Given the description of an element on the screen output the (x, y) to click on. 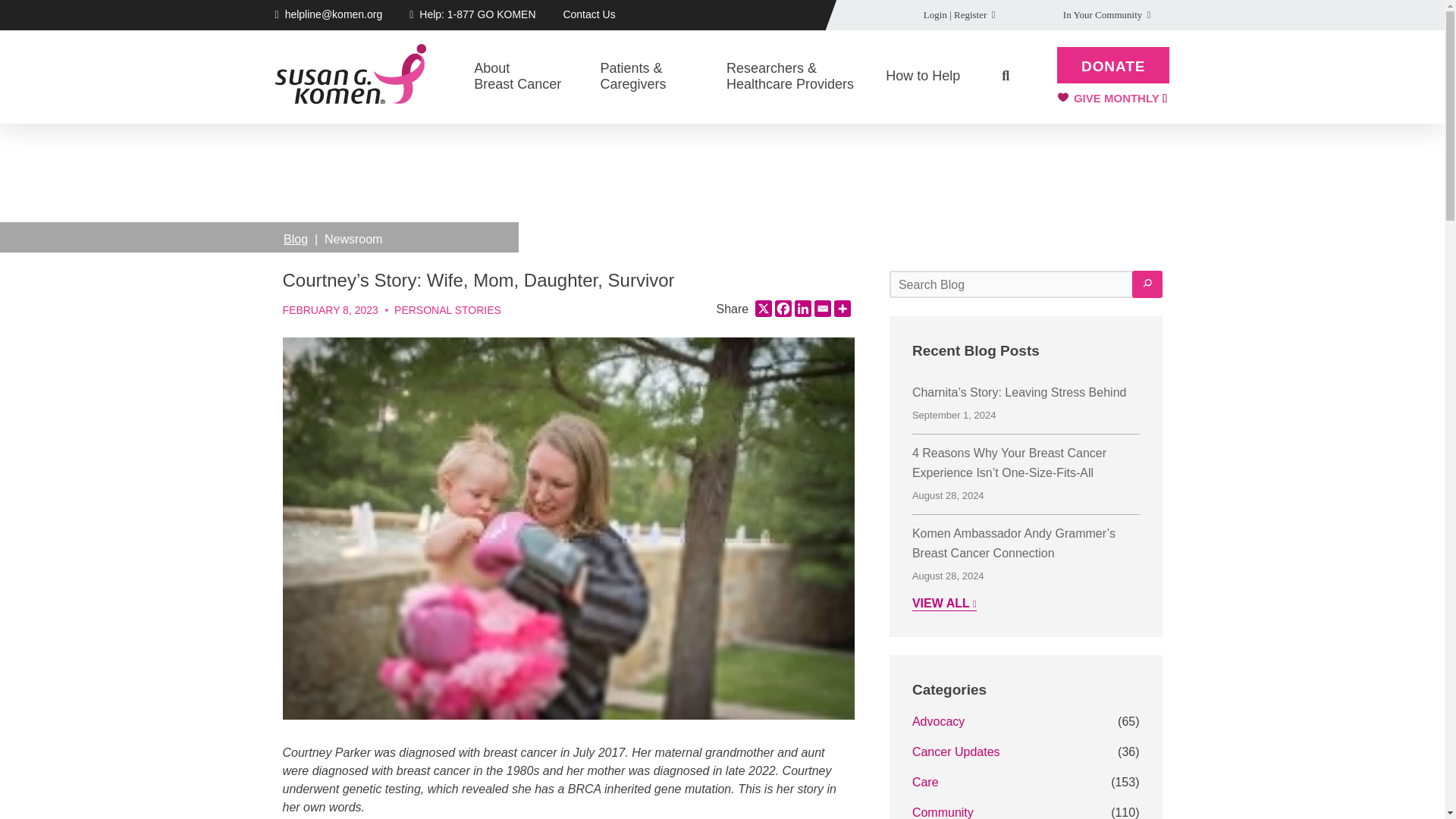
Email (822, 308)
Linkedin (802, 308)
X (763, 308)
Facebook (527, 76)
More (783, 308)
Contact Us (842, 308)
Help: 1-877 GO KOMEN (588, 14)
